Given the description of an element on the screen output the (x, y) to click on. 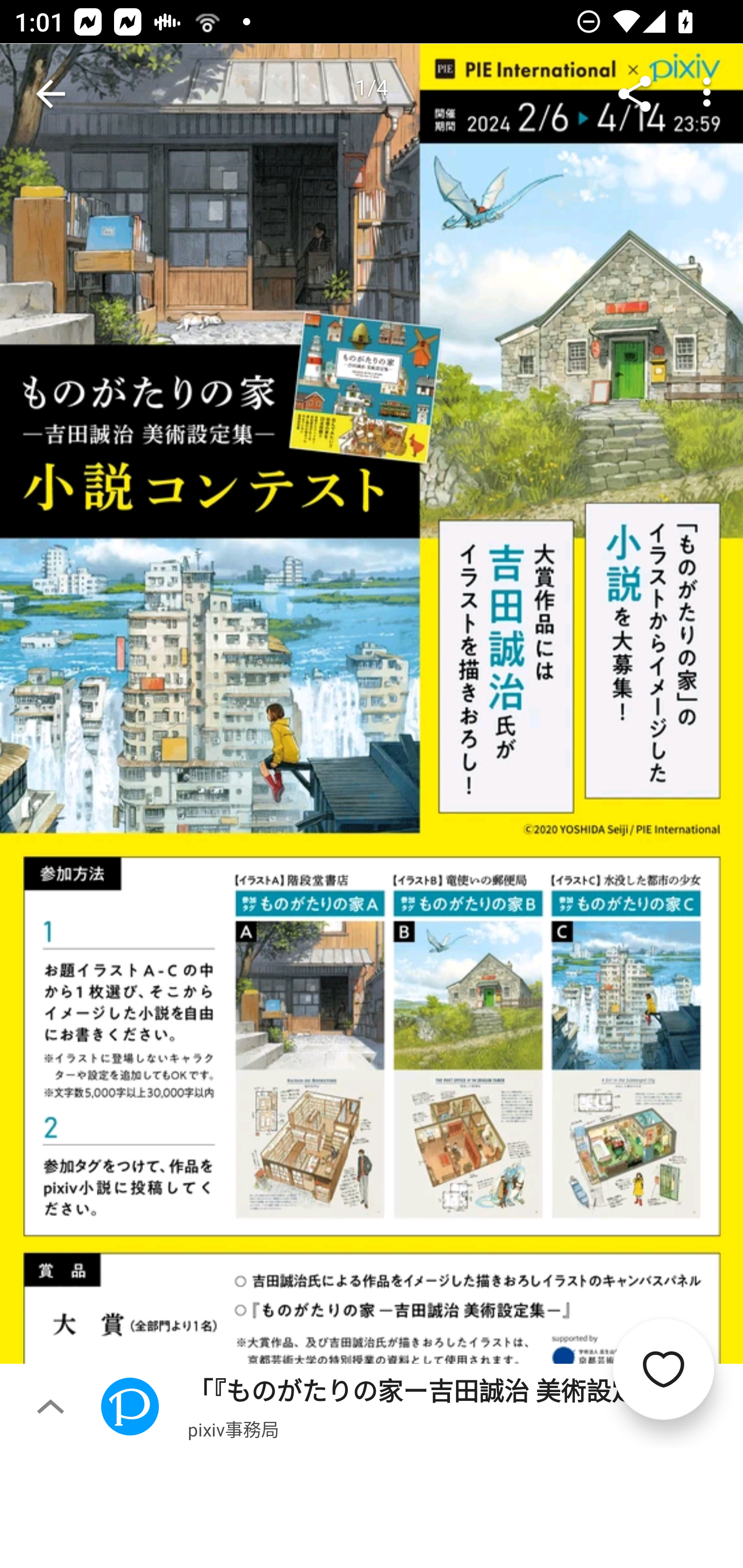
Share (634, 93)
More options (706, 93)
「『ものがたりの家ー吉田誠治 美術設定集ー』小説コンテスト」開催 pixiv事務局 (422, 1406)
pixiv事務局 (233, 1428)
